Given the description of an element on the screen output the (x, y) to click on. 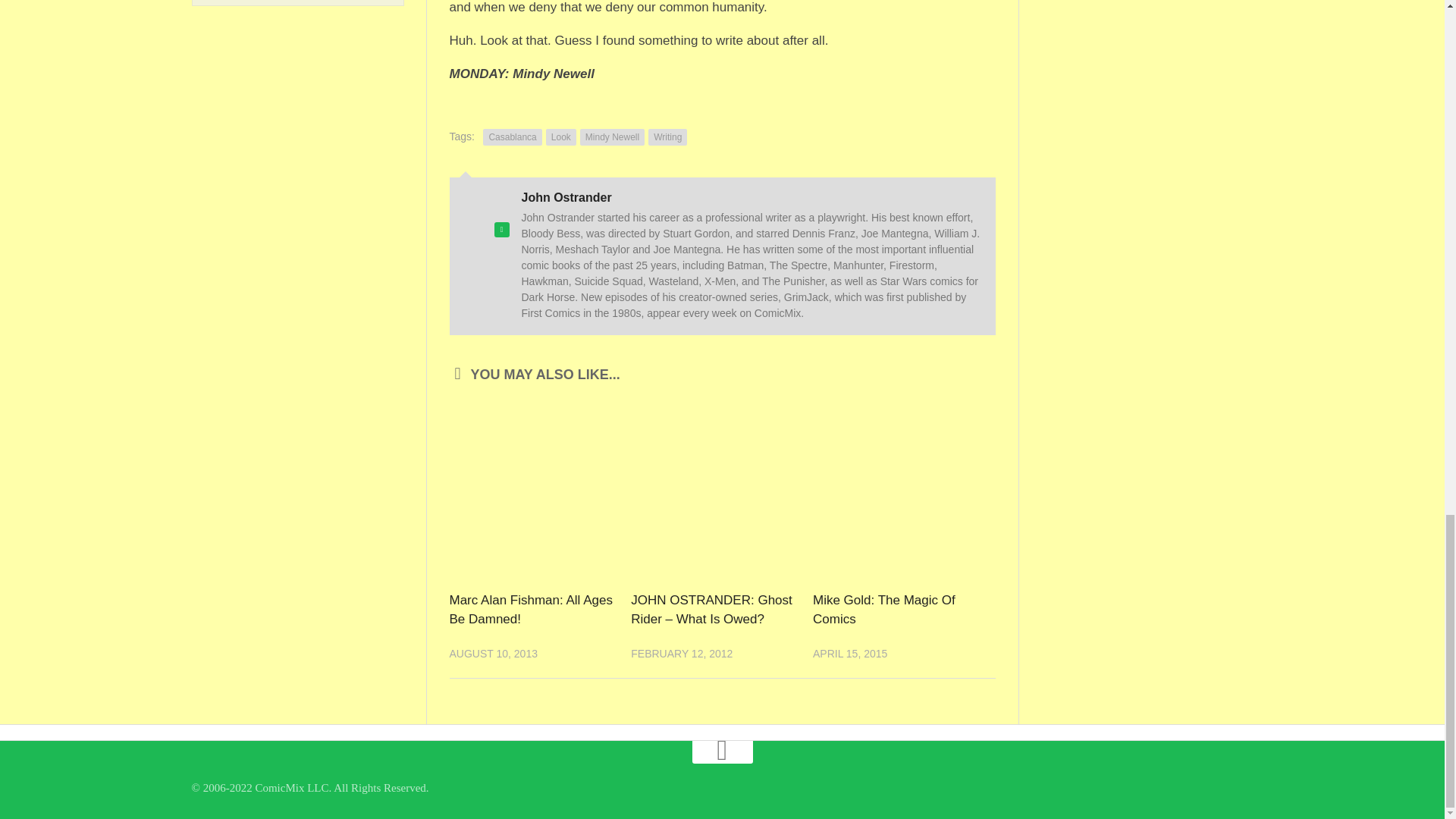
Marc Alan Fishman: All Ages Be Damned! (529, 609)
Look (561, 136)
Casablanca (512, 136)
Writing (667, 136)
Mindy Newell (612, 136)
